Given the description of an element on the screen output the (x, y) to click on. 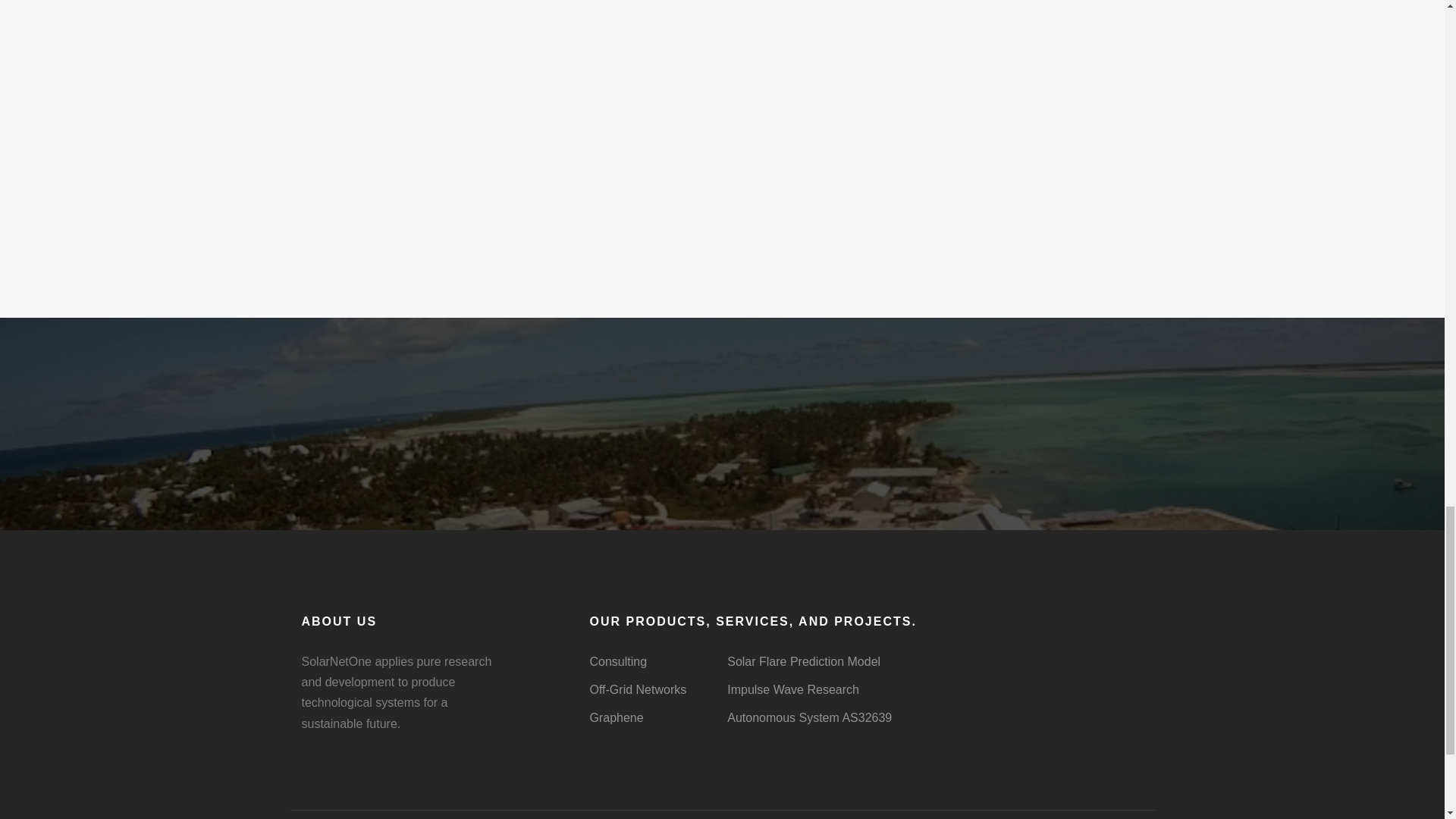
Consulting (617, 661)
Solar Flare Prediction Model (803, 661)
Impulse Wave Research (792, 689)
Autonomous System AS32639 (808, 717)
Graphene (616, 717)
Off-Grid Networks (637, 689)
